Given the description of an element on the screen output the (x, y) to click on. 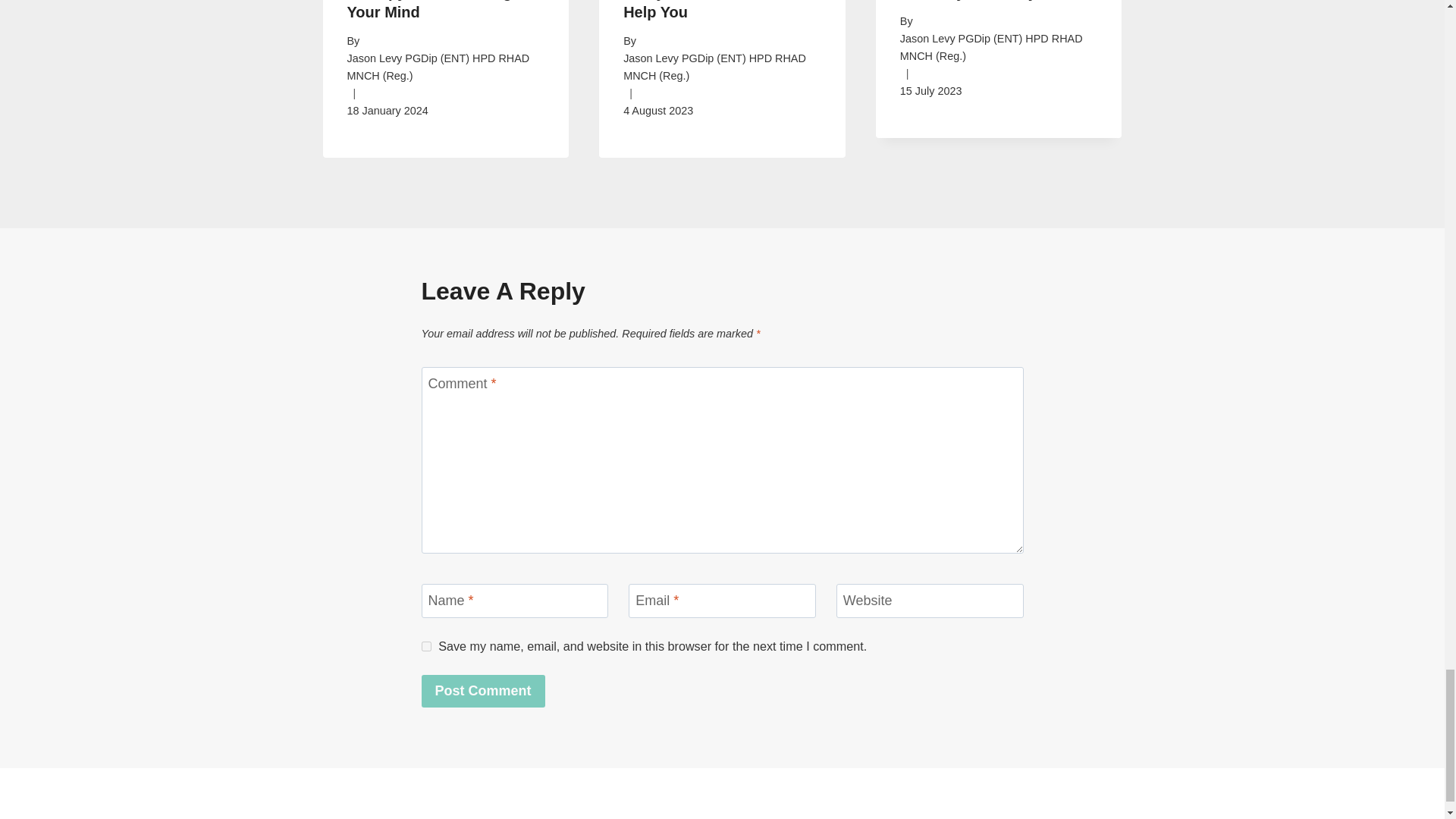
yes (426, 646)
Post Comment (483, 690)
